Given the description of an element on the screen output the (x, y) to click on. 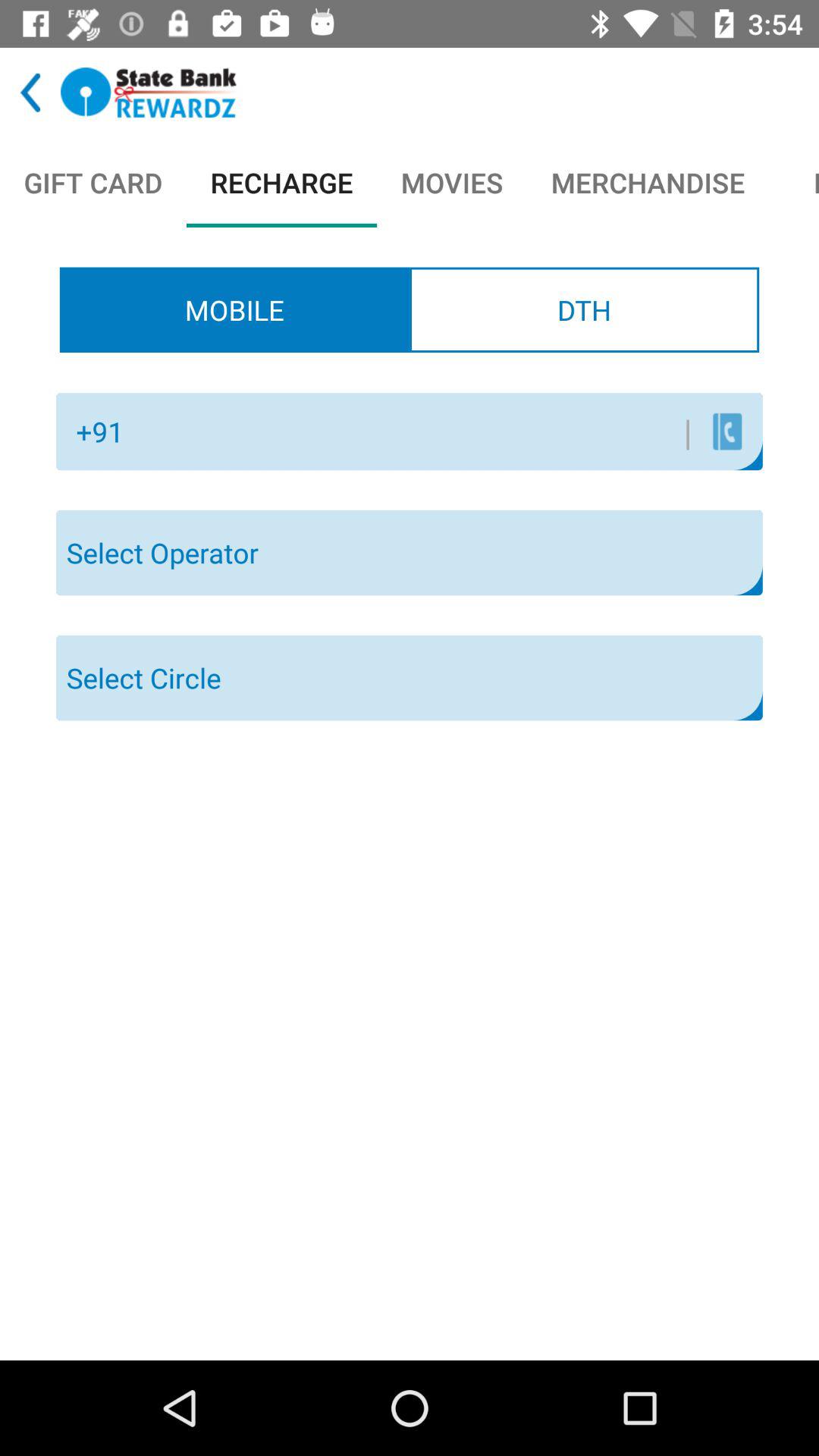
click on the contact icon under dth beside text field (727, 431)
click on the mobile button below the recharge (234, 309)
